Given the description of an element on the screen output the (x, y) to click on. 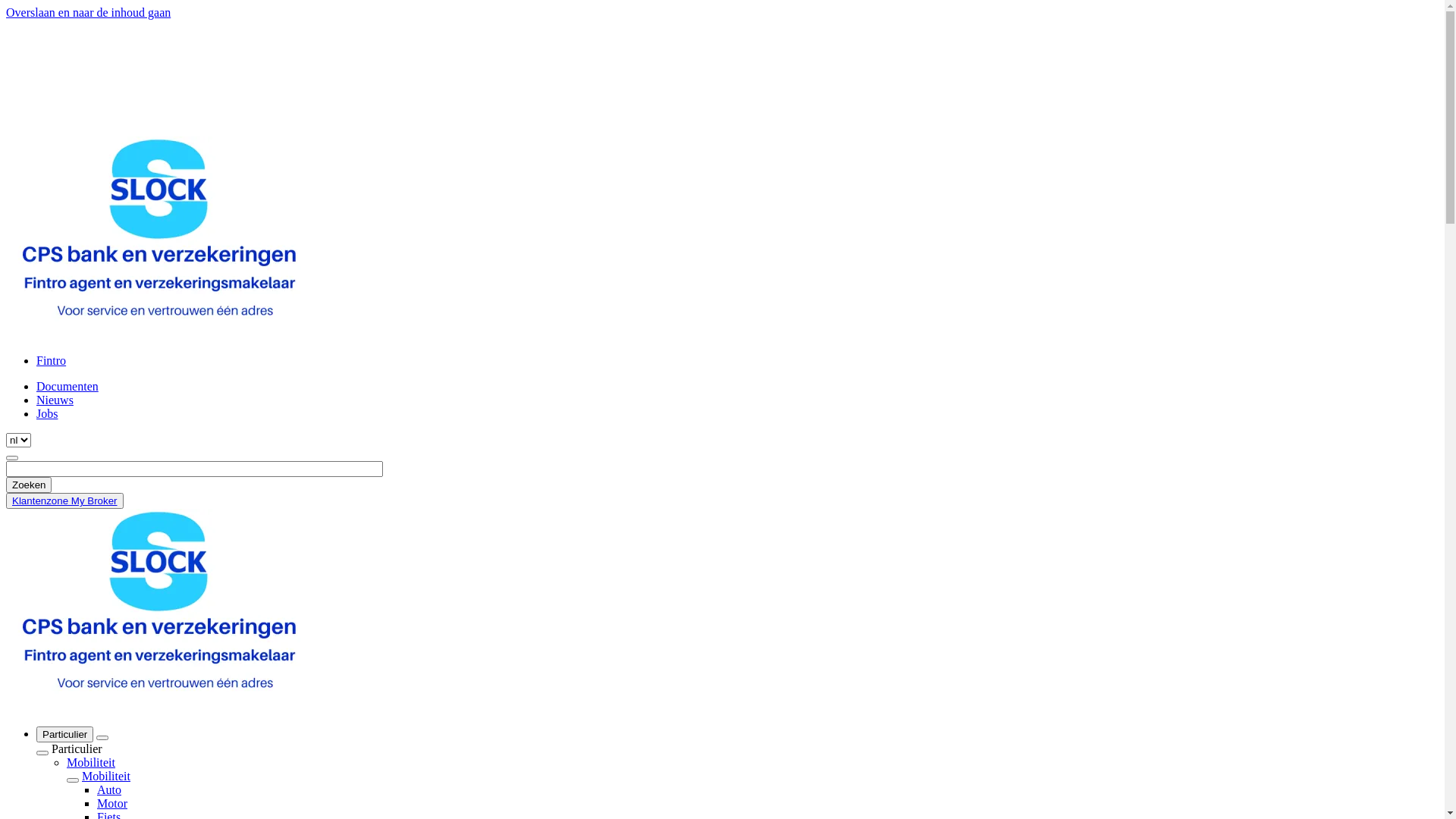
Mobiliteit Element type: text (105, 775)
Documenten Element type: text (67, 385)
Zoeken Element type: text (28, 484)
Nieuws Element type: text (54, 399)
Klantenzone My Broker Element type: text (64, 500)
Particulier Element type: text (64, 734)
Overslaan en naar de inhoud gaan Element type: text (88, 12)
Auto Element type: text (109, 789)
Fintro Element type: text (50, 360)
Motor Element type: text (112, 803)
Jobs Element type: text (46, 413)
Klantenzone My Broker Element type: text (64, 500)
Mobiliteit Element type: text (90, 762)
